Given the description of an element on the screen output the (x, y) to click on. 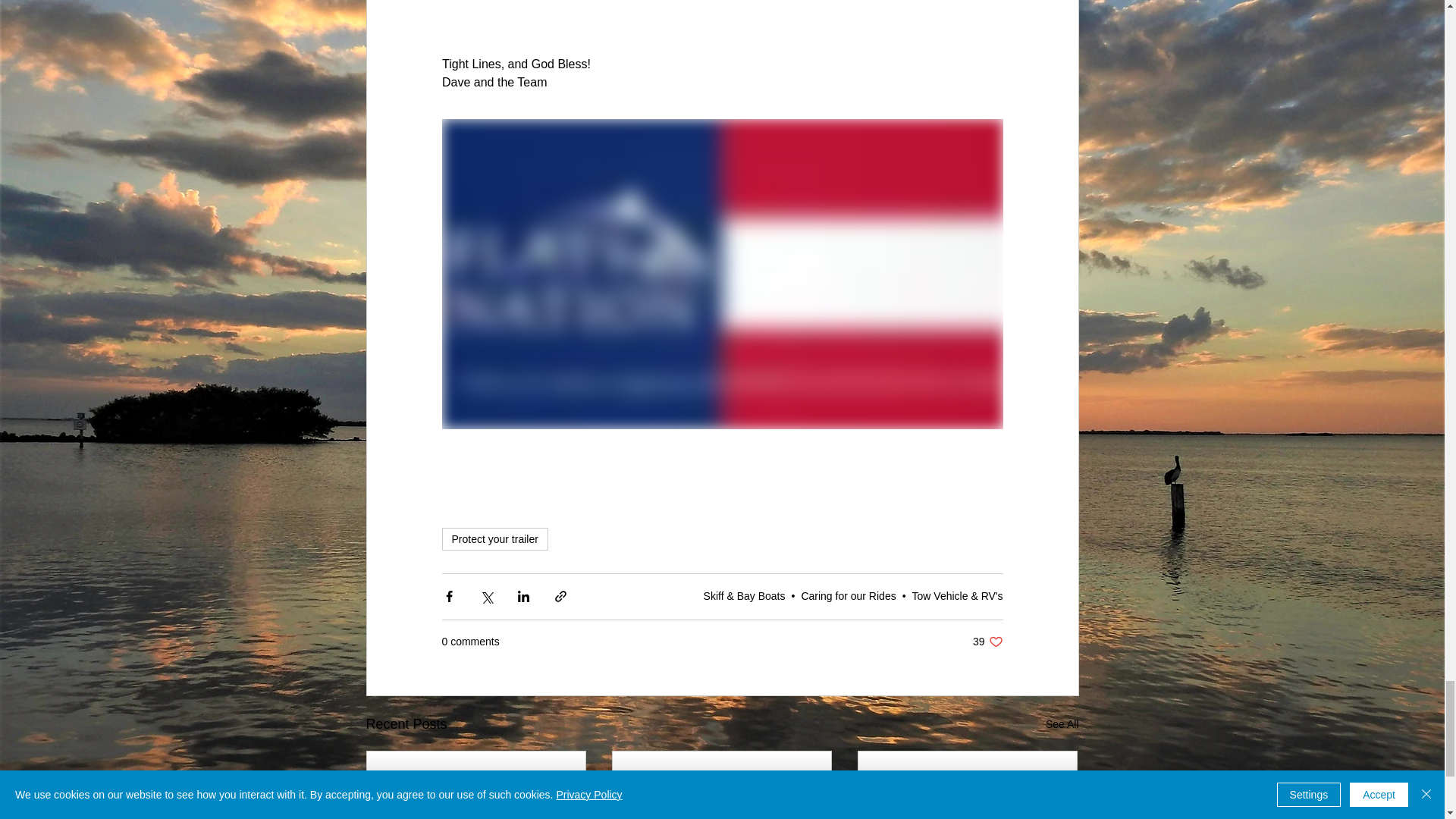
Protect your trailer (987, 641)
Caring for our Rides (494, 538)
See All (847, 595)
